Given the description of an element on the screen output the (x, y) to click on. 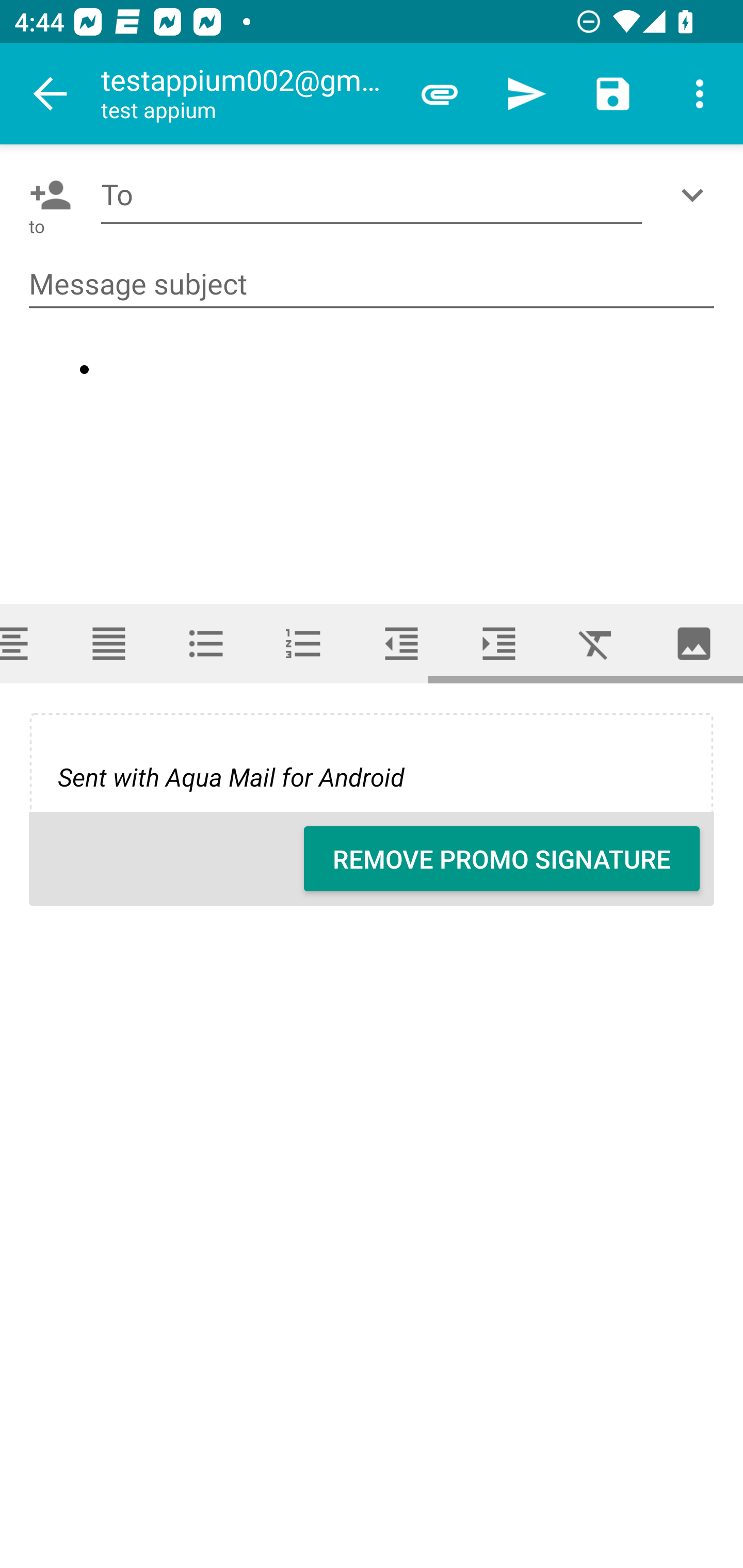
Navigate up (50, 93)
testappium002@gmail.com test appium (248, 93)
Attach (439, 93)
Send (525, 93)
Save (612, 93)
More options (699, 93)
Pick contact: To (46, 195)
Show/Add CC/BCC (696, 195)
To (371, 195)
Message subject (371, 284)
• 
 (372, 459)
Align center (30, 643)
Full justify (108, 643)
List (bulleted) (206, 643)
List (numbered) (303, 643)
Decrease indent (401, 643)
Increase indent (499, 643)
Clear format (596, 643)
Insert image (694, 643)
REMOVE PROMO SIGNATURE (501, 858)
